Given the description of an element on the screen output the (x, y) to click on. 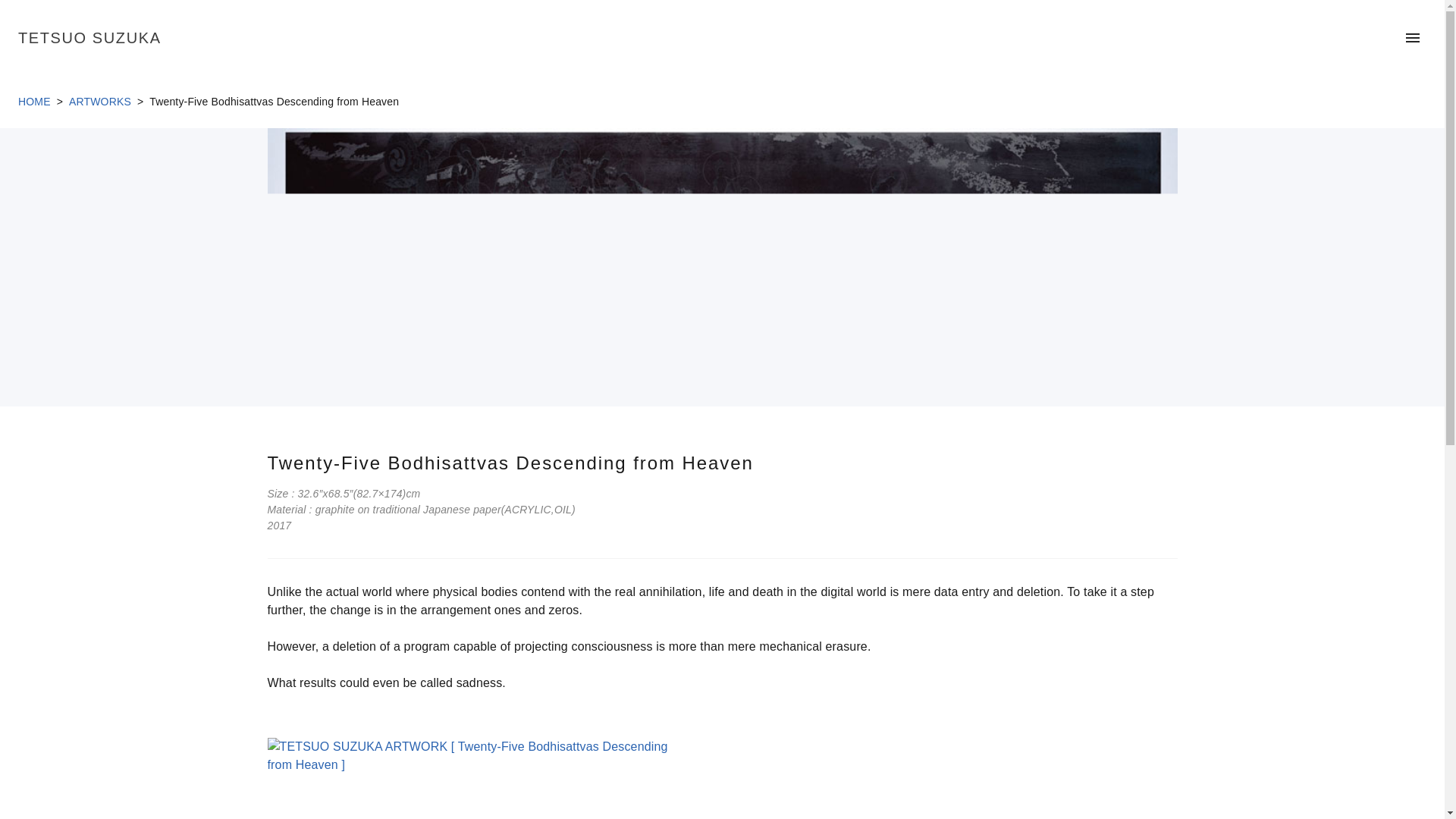
HOME (33, 101)
TETSUO SUZUKA (89, 37)
ARTWORKS (99, 101)
MENU (1412, 37)
